Given the description of an element on the screen output the (x, y) to click on. 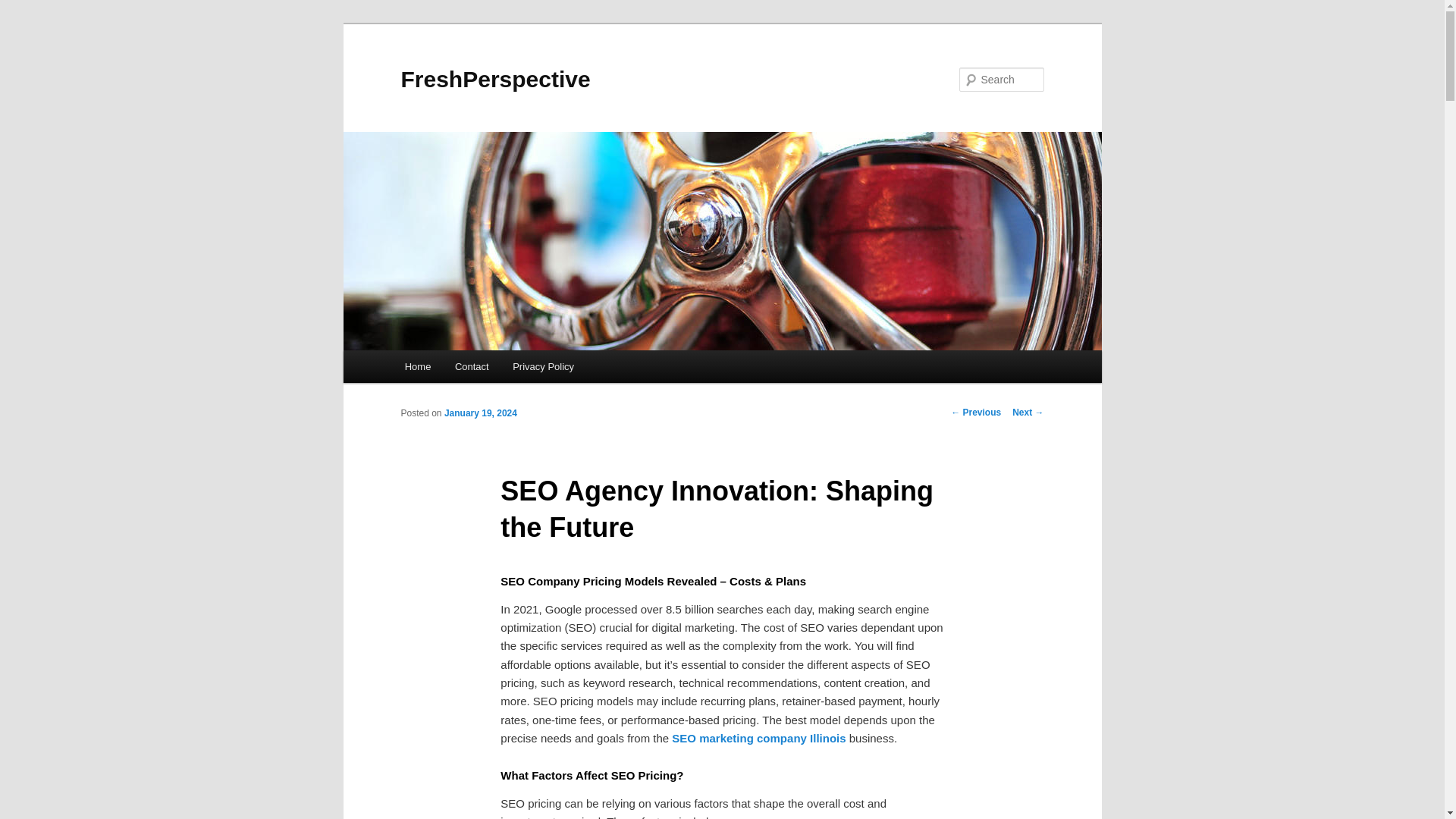
SEO marketing company Illinois (758, 738)
Contact (471, 366)
FreshPerspective (494, 78)
January 19, 2024 (480, 412)
Home (417, 366)
Privacy Policy (542, 366)
Search (24, 8)
10:34 pm (480, 412)
